Given the description of an element on the screen output the (x, y) to click on. 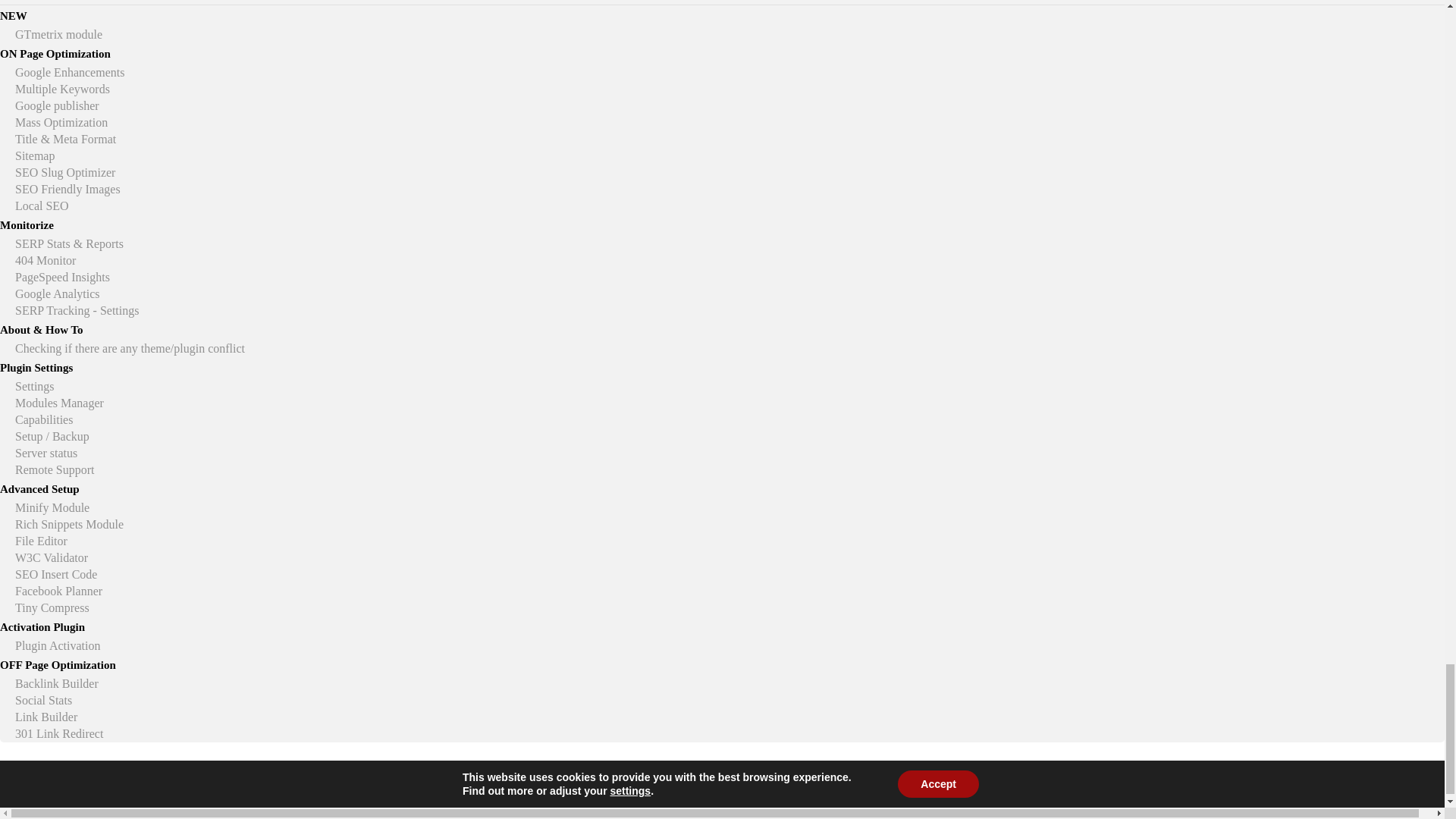
Modules Manager (58, 402)
Multiple Keywords (62, 88)
Mass Optimization (60, 122)
Link Builder (45, 716)
Rich Snippets Module (68, 523)
Google publisher (56, 105)
SEO Friendly Images (67, 188)
SEO Slug Optimizer (64, 172)
Backlink Builder (56, 683)
Server status (45, 452)
404 Monitor (44, 259)
SEO Insert Code (55, 574)
W3C Validator (50, 557)
Local SEO (41, 205)
File Editor (40, 540)
